Given the description of an element on the screen output the (x, y) to click on. 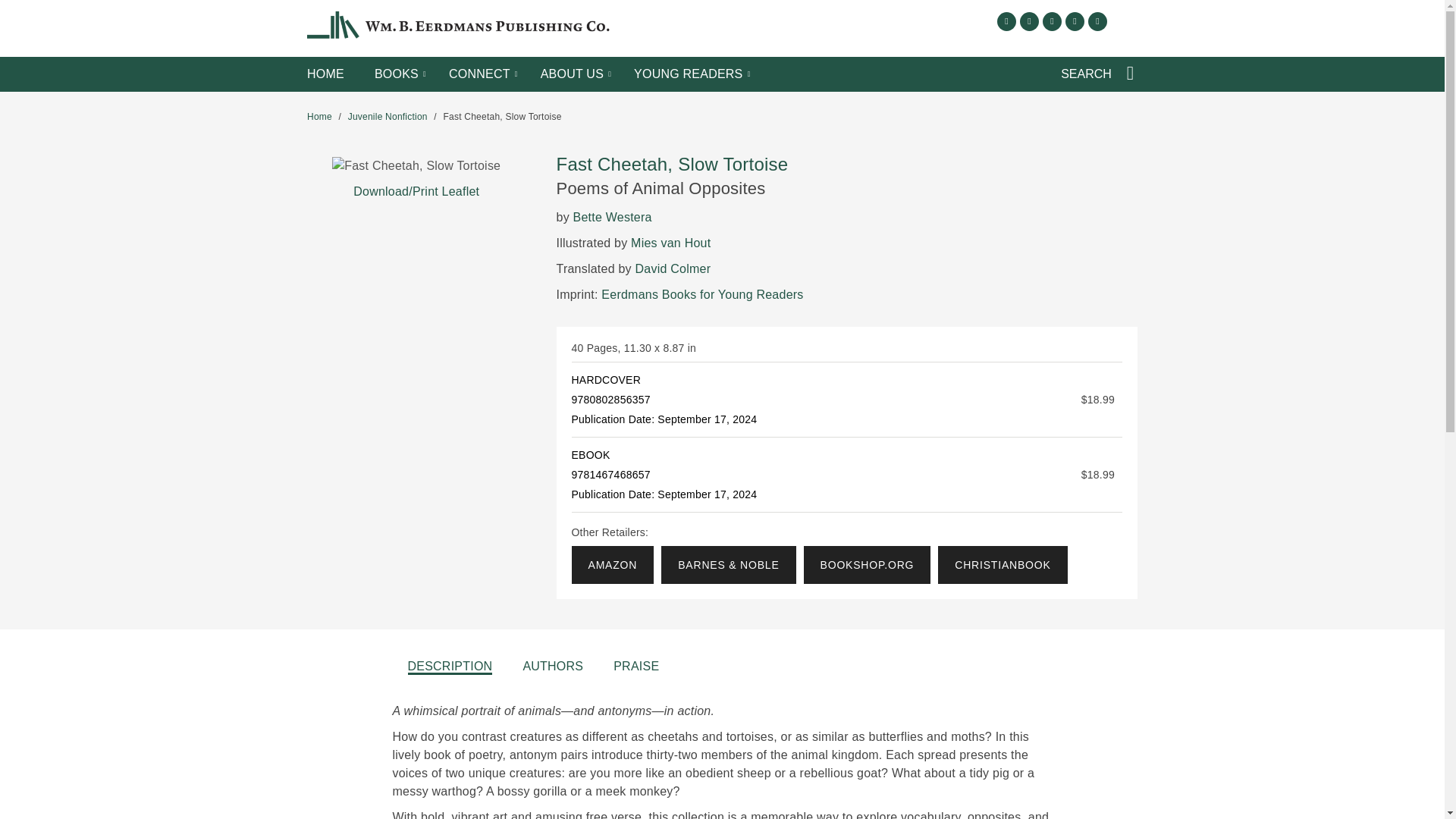
ABOUT US (572, 74)
Follow us on YouTube (1096, 21)
Follow us on Facebook (1006, 21)
HOME (325, 74)
Bookshop.org (867, 564)
Christianbook (1002, 564)
Amazon (612, 564)
CONNECT (479, 74)
Follow us on LinkedIn (1074, 21)
YOUNG READERS (687, 74)
View results for juvenile nonfiction (387, 116)
Back to homepage (319, 116)
BOOKS (396, 74)
Follow us on Instagram (1051, 21)
